Given the description of an element on the screen output the (x, y) to click on. 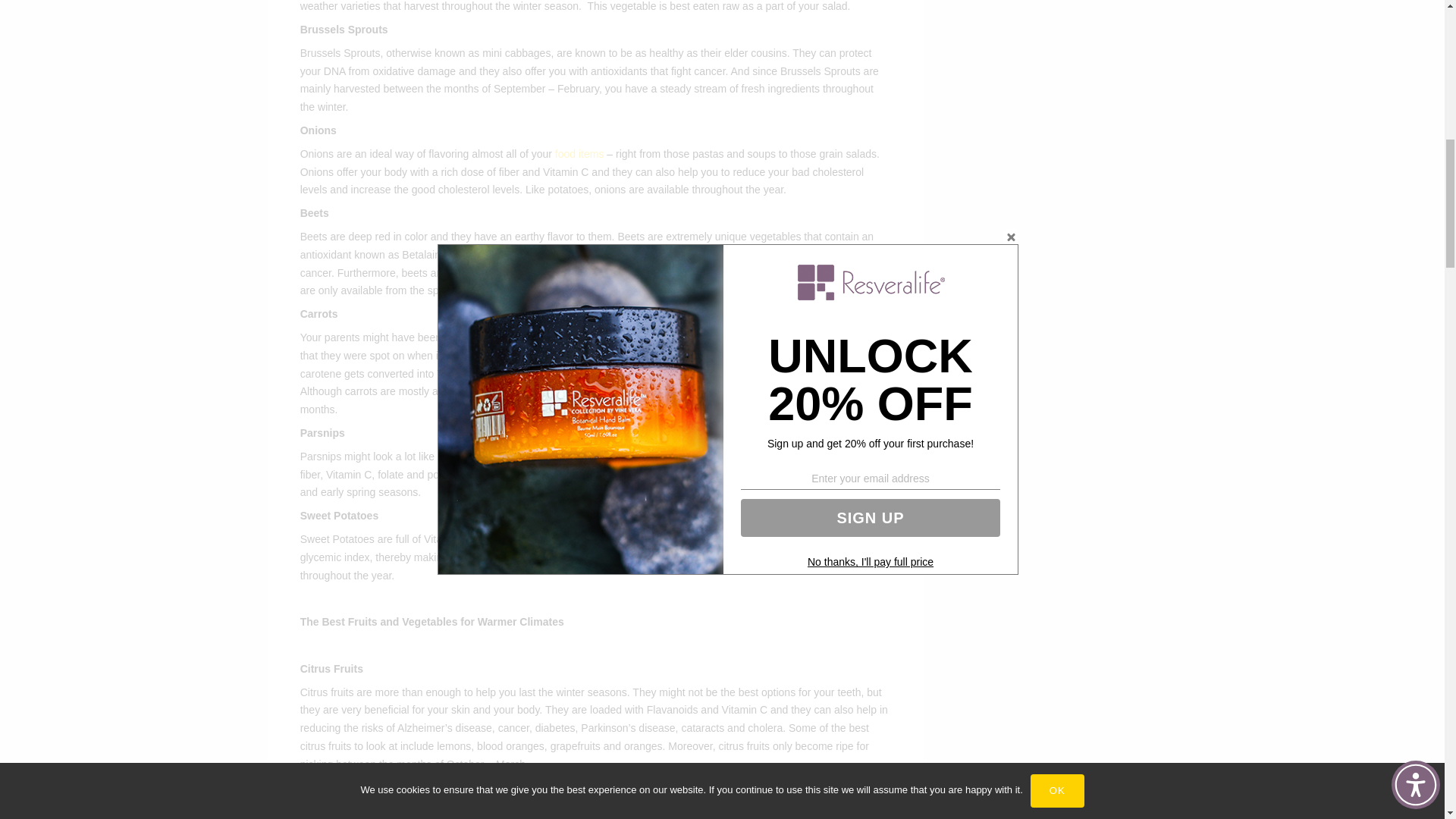
Top Food Items That Enhances Hair Growth (579, 153)
